Given the description of an element on the screen output the (x, y) to click on. 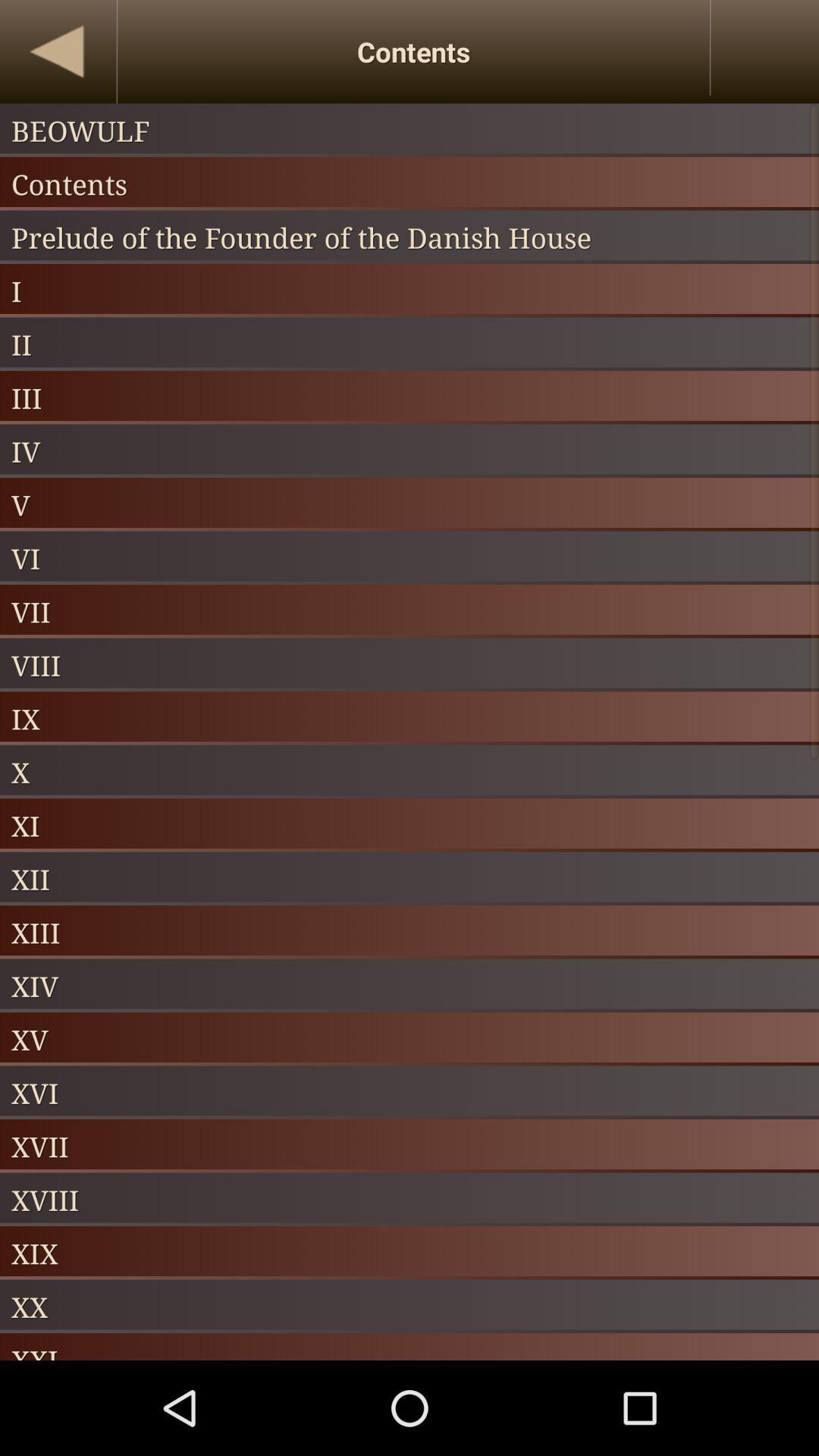
choose the app above xvi (409, 1039)
